Given the description of an element on the screen output the (x, y) to click on. 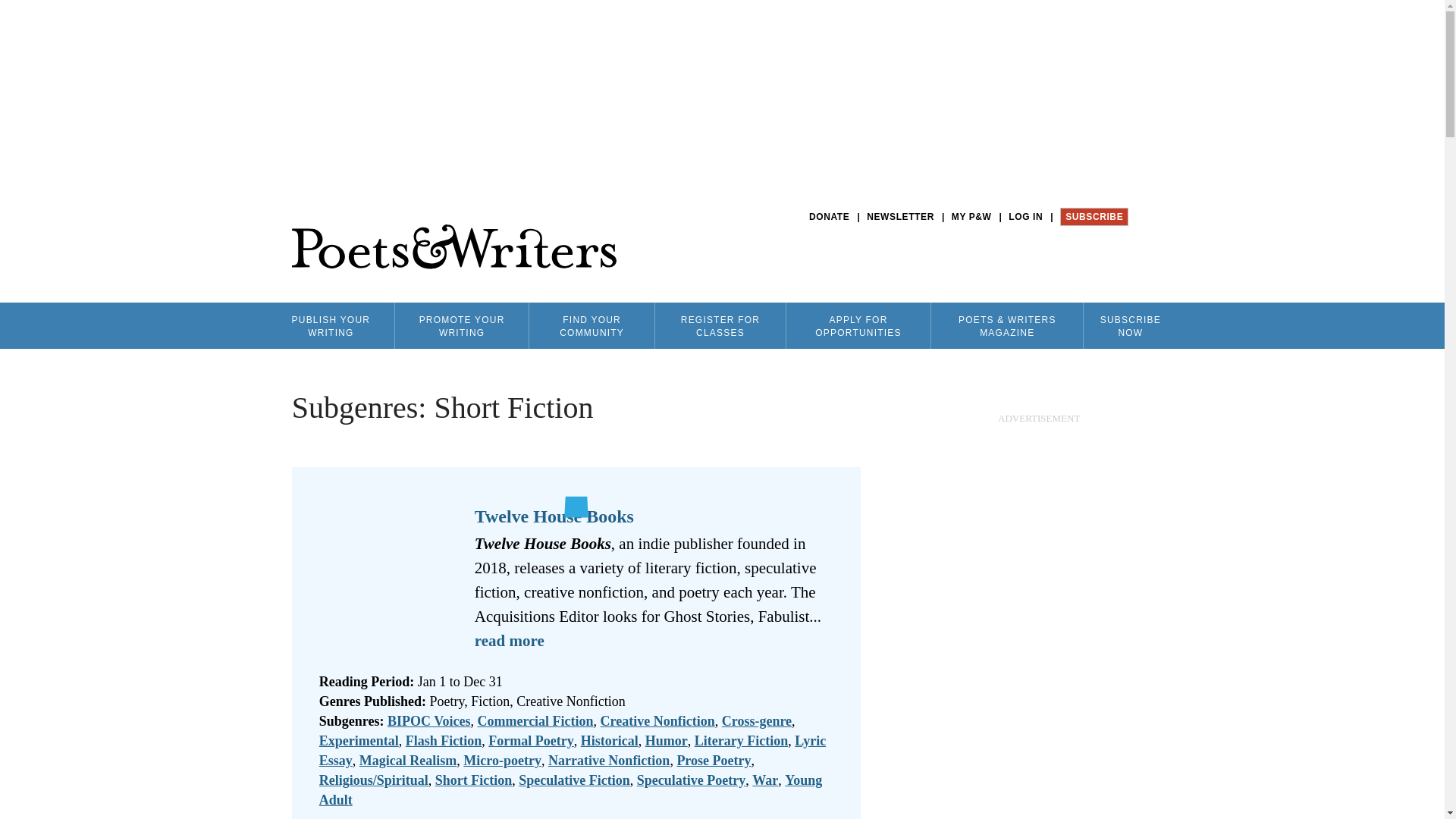
Publish Your Writing (330, 325)
PROMOTE YOUR WRITING (461, 325)
SUBSCRIBE (1093, 217)
PUBLISH YOUR WRITING (330, 325)
Home (453, 246)
LOG IN (1025, 216)
NEWSLETTER (900, 216)
DONATE (828, 216)
